Given the description of an element on the screen output the (x, y) to click on. 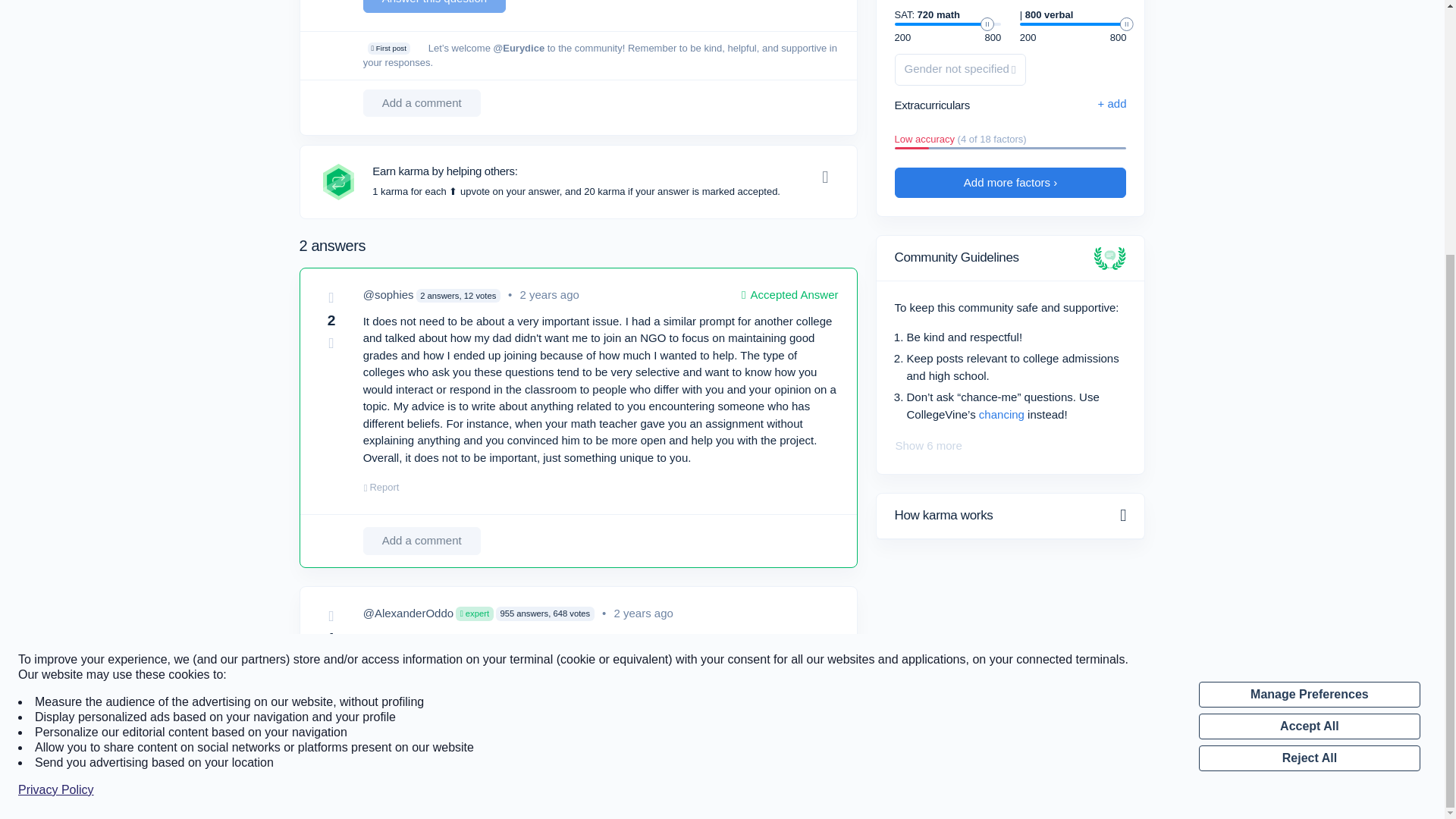
Add a comment (421, 103)
Answer this question (433, 6)
Privacy Policy (55, 429)
Accept All (1309, 365)
Manage Preferences (1309, 334)
Reject All (1309, 397)
